Given the description of an element on the screen output the (x, y) to click on. 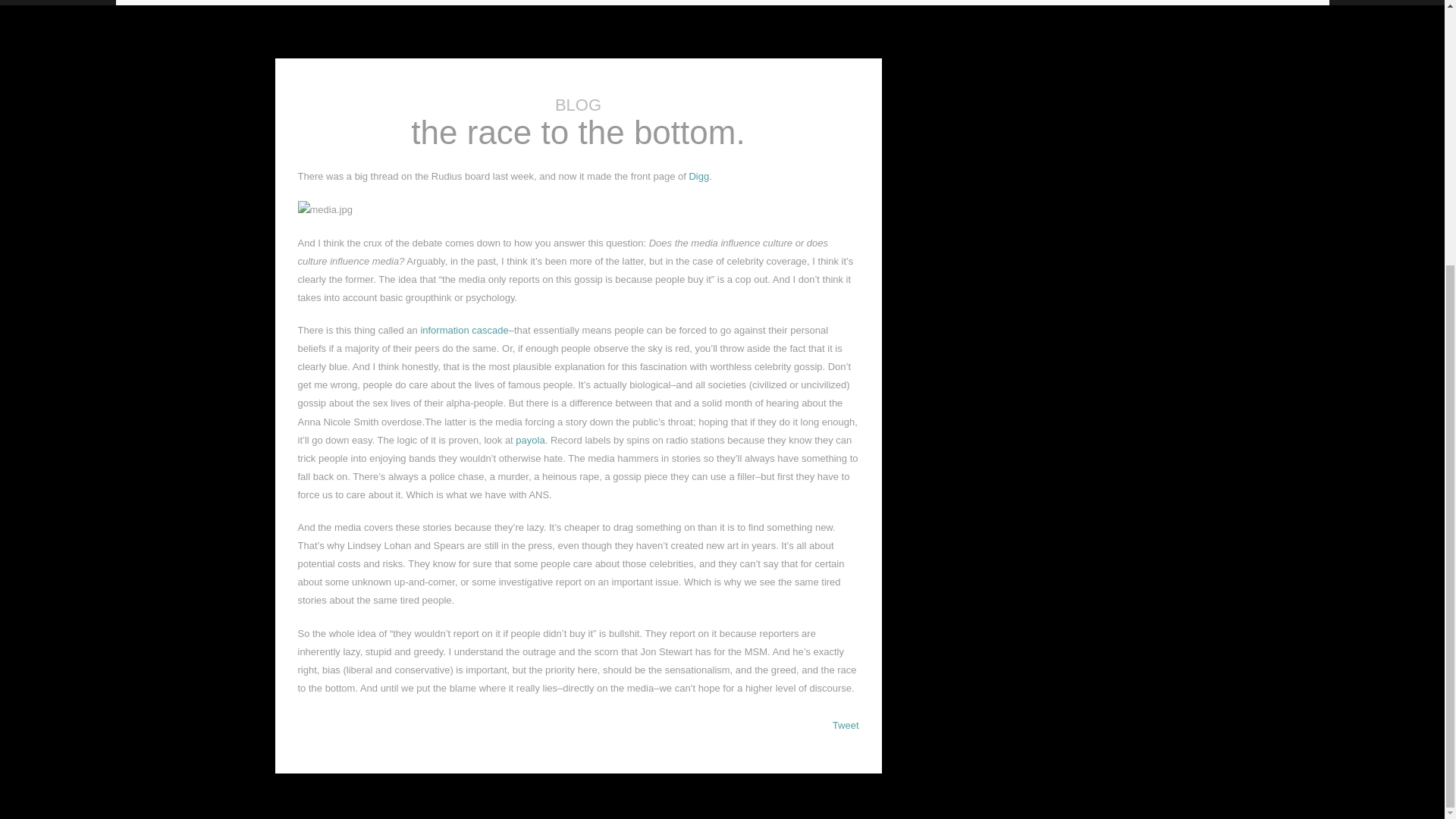
Digg (698, 175)
information cascade (464, 329)
payola (529, 439)
BLOG (577, 104)
Tweet (845, 725)
